Given the description of an element on the screen output the (x, y) to click on. 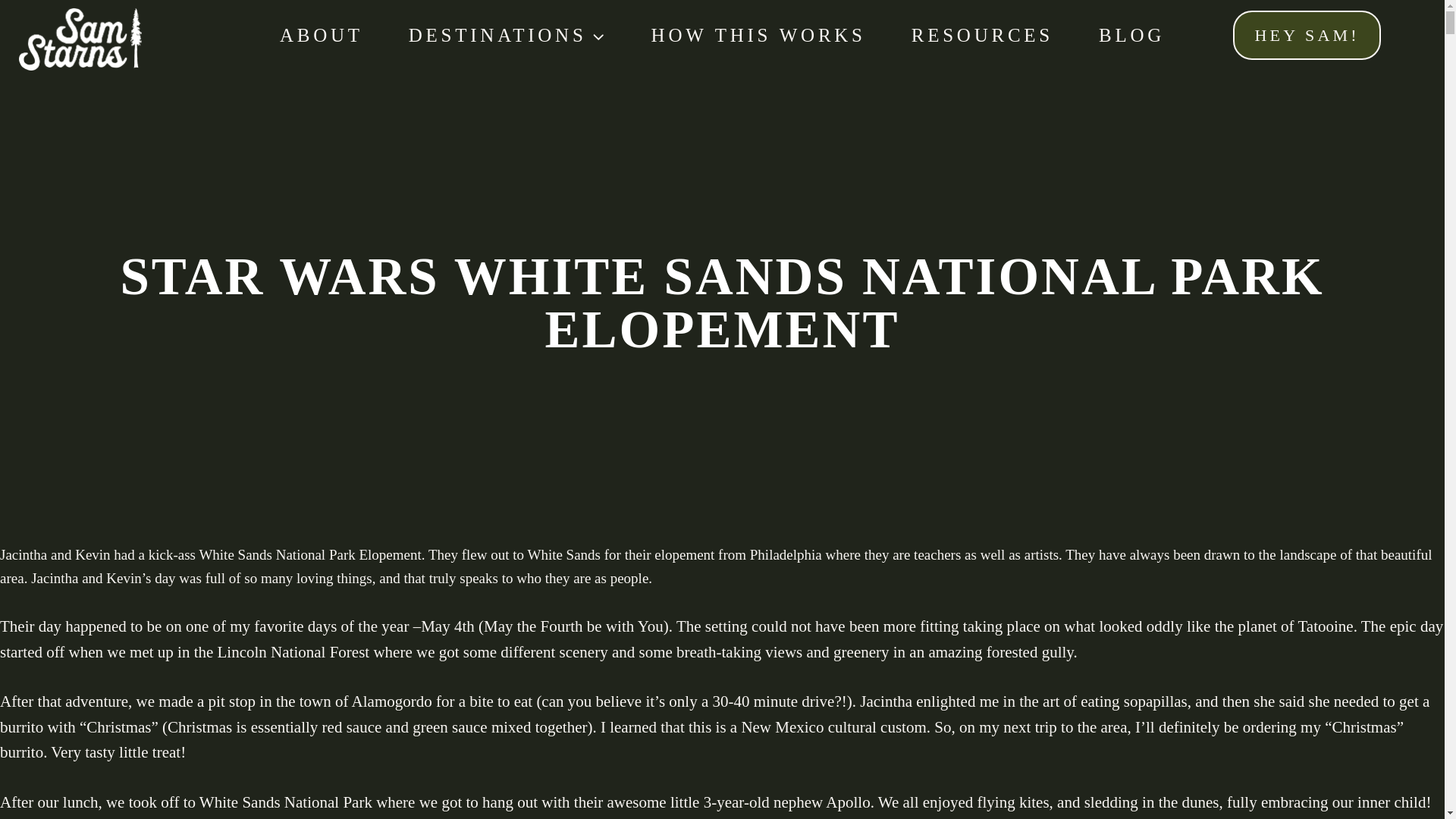
HOW THIS WORKS (758, 35)
DESTINATIONS (506, 35)
BLOG (1131, 35)
RESOURCES (981, 35)
ABOUT (321, 35)
HEY SAM! (1306, 35)
